Given the description of an element on the screen output the (x, y) to click on. 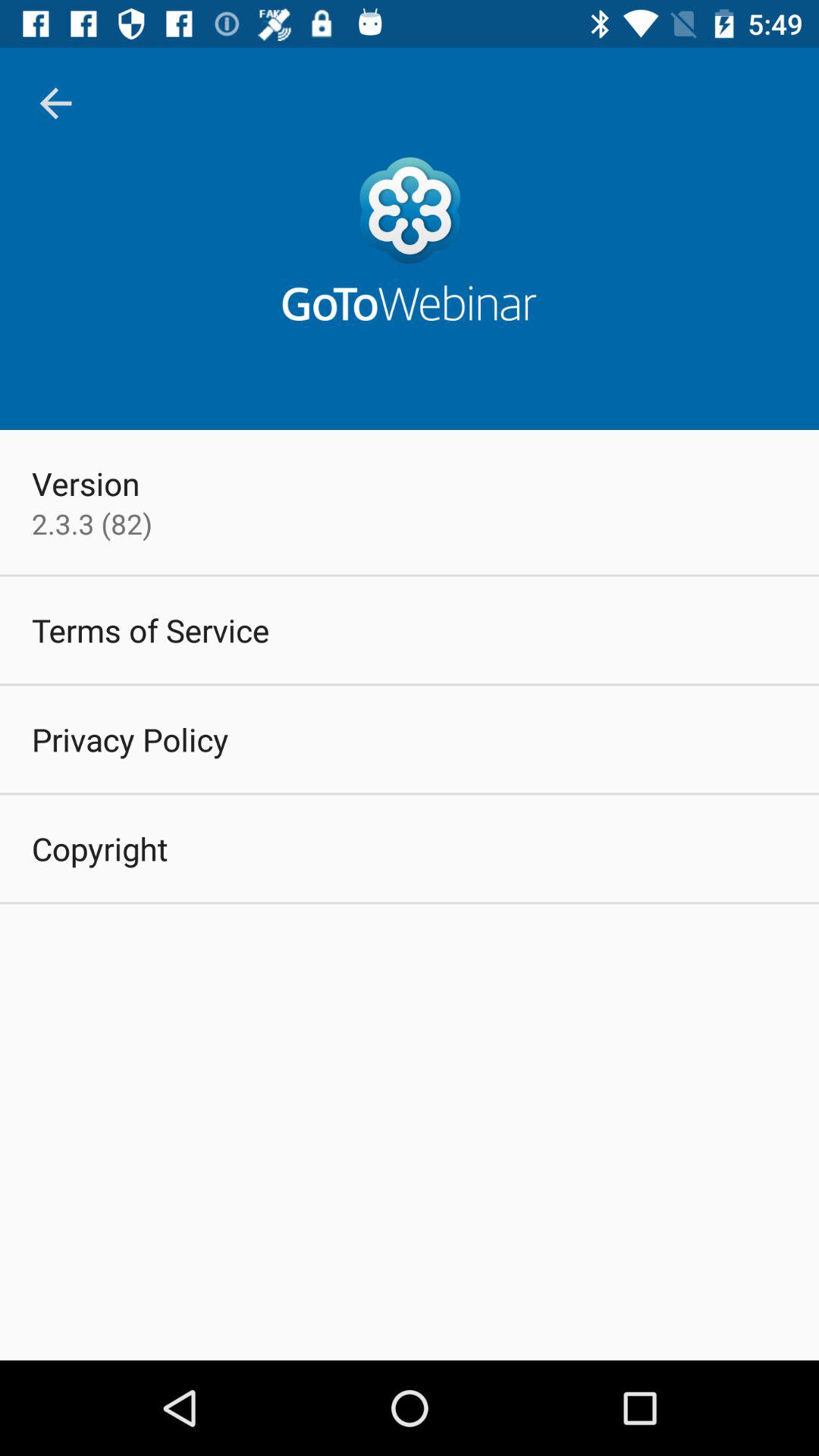
choose the item below the terms of service icon (129, 738)
